Given the description of an element on the screen output the (x, y) to click on. 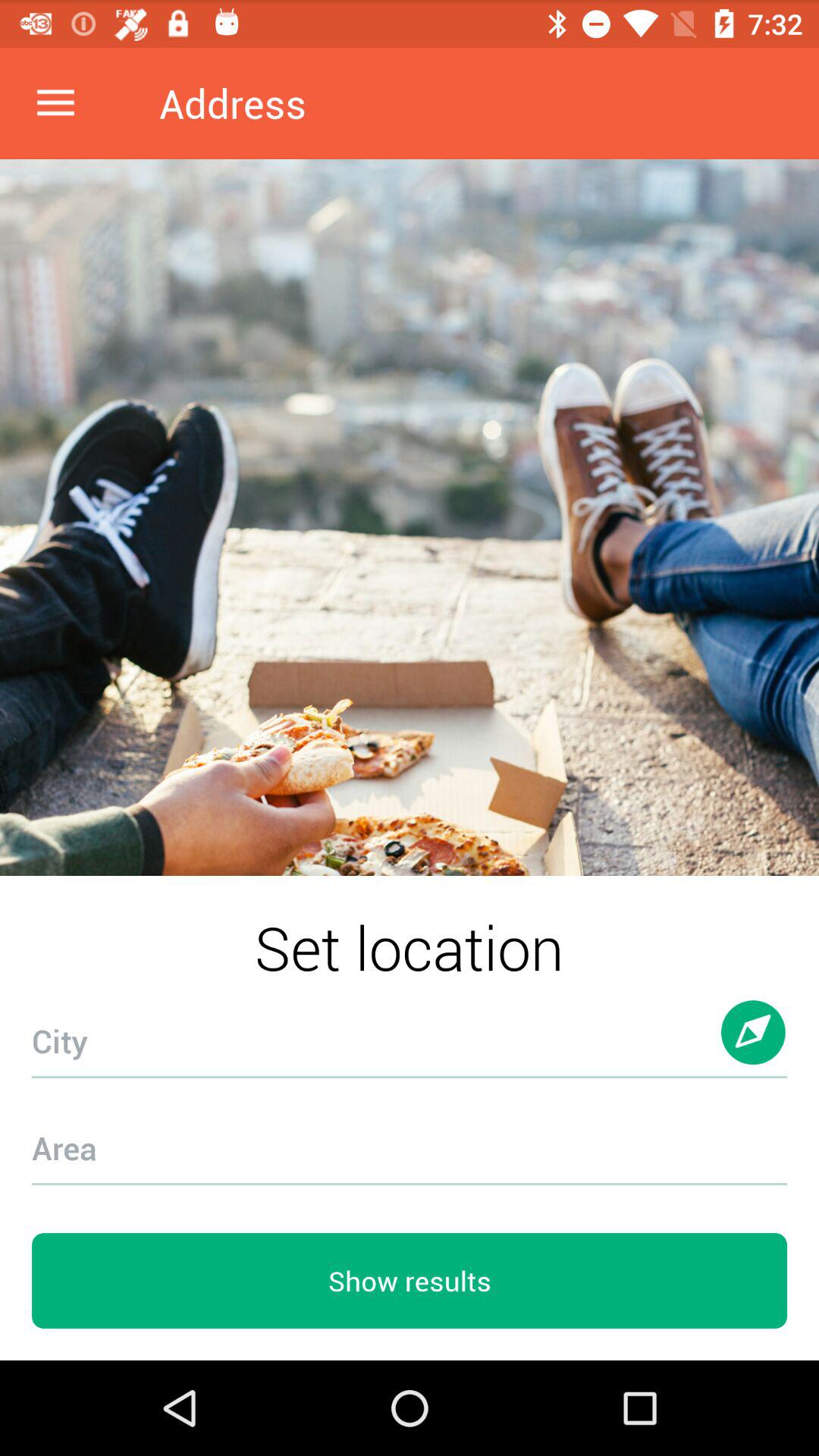
press the show results (409, 1280)
